Given the description of an element on the screen output the (x, y) to click on. 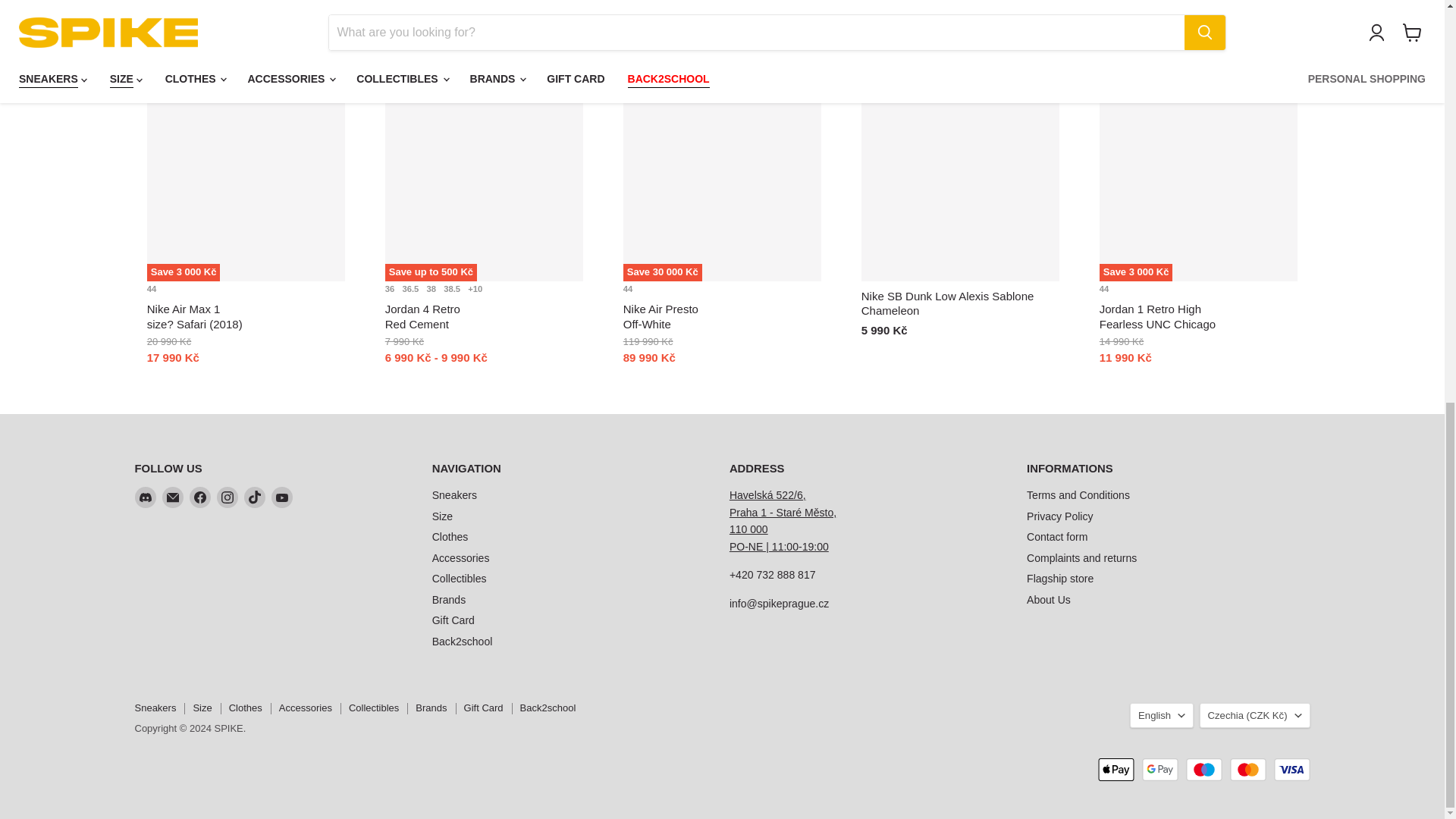
TikTok (254, 496)
36 (391, 288)
Facebook (200, 496)
44 (1104, 288)
44 (628, 288)
10 (474, 288)
Email (172, 496)
38.5 (454, 288)
36.5 (412, 288)
Instagram (227, 496)
